Given the description of an element on the screen output the (x, y) to click on. 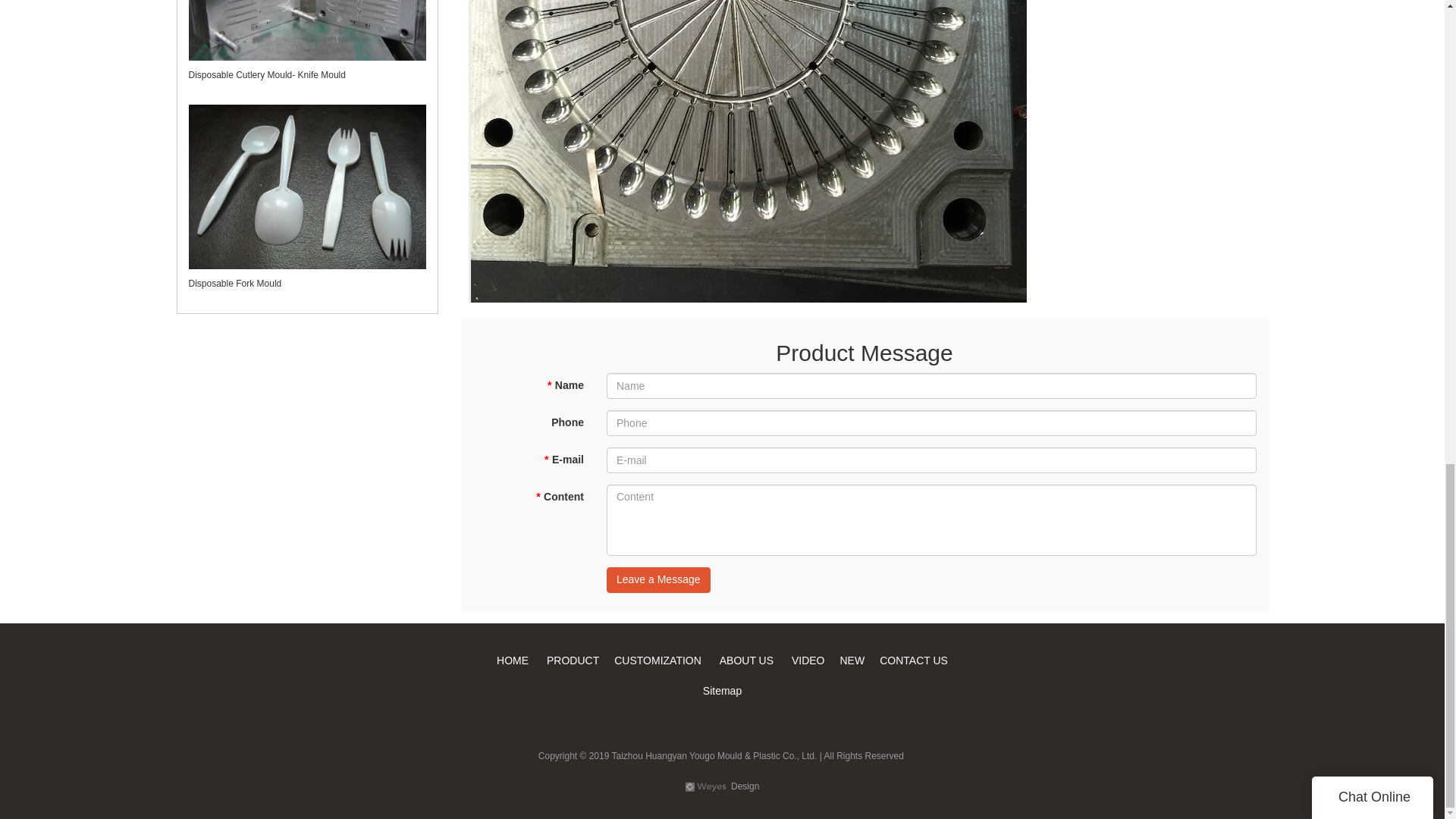
Disposable Cutlery Mould- Knife Mould (266, 74)
